Given the description of an element on the screen output the (x, y) to click on. 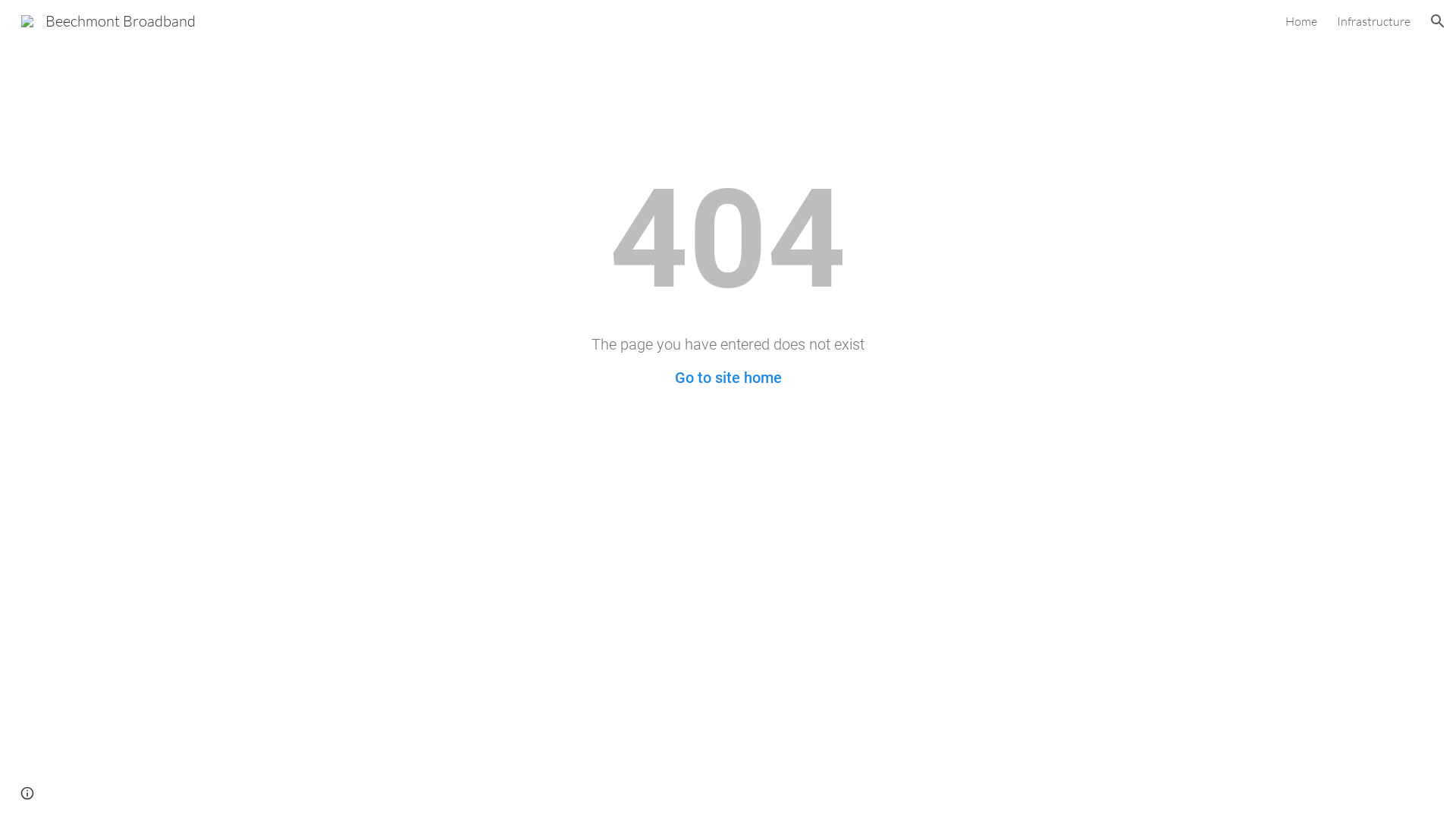
Home Element type: text (1301, 20)
Infrastructure Element type: text (1373, 20)
Beechmont Broadband Element type: text (108, 18)
Go to site home Element type: text (727, 377)
